Given the description of an element on the screen output the (x, y) to click on. 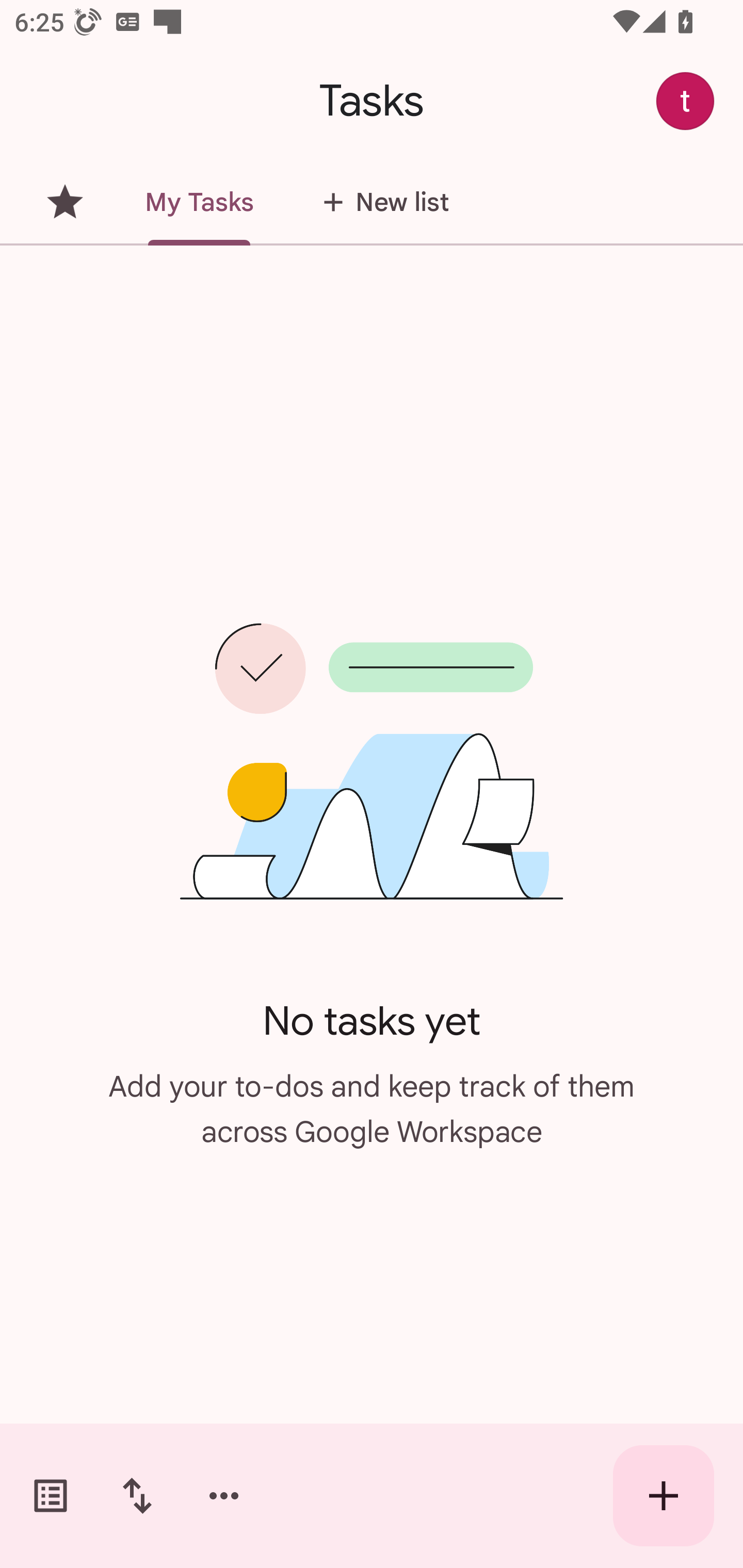
Starred (64, 202)
New list (380, 202)
Switch task lists (50, 1495)
Create new task (663, 1495)
Change sort order (136, 1495)
More options (223, 1495)
